Given the description of an element on the screen output the (x, y) to click on. 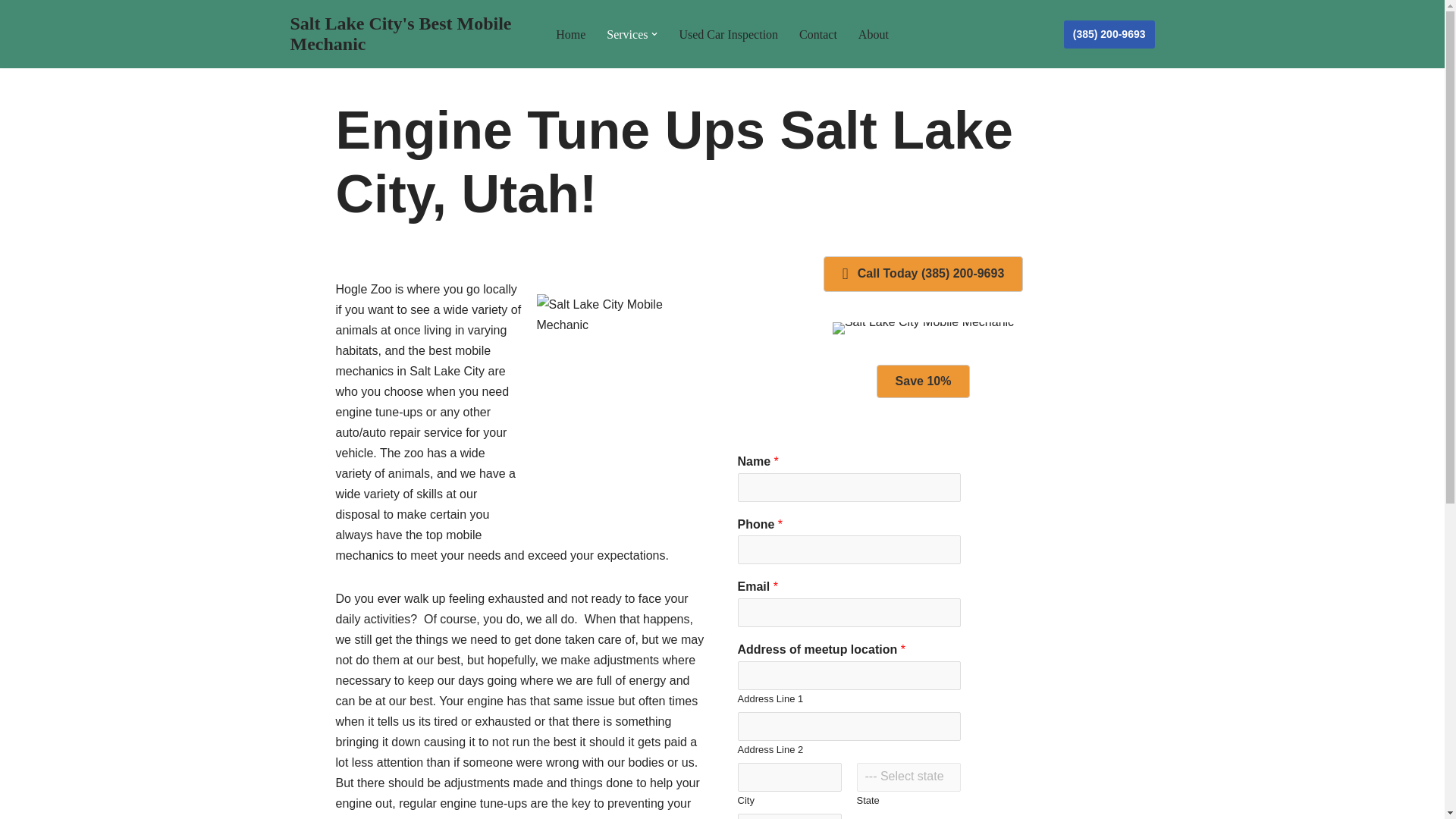
Skip to content (11, 31)
Salt Lake City (922, 328)
About (873, 34)
Used Car Inspection (727, 34)
Services (627, 34)
Home (570, 34)
Contact (818, 34)
